Given the description of an element on the screen output the (x, y) to click on. 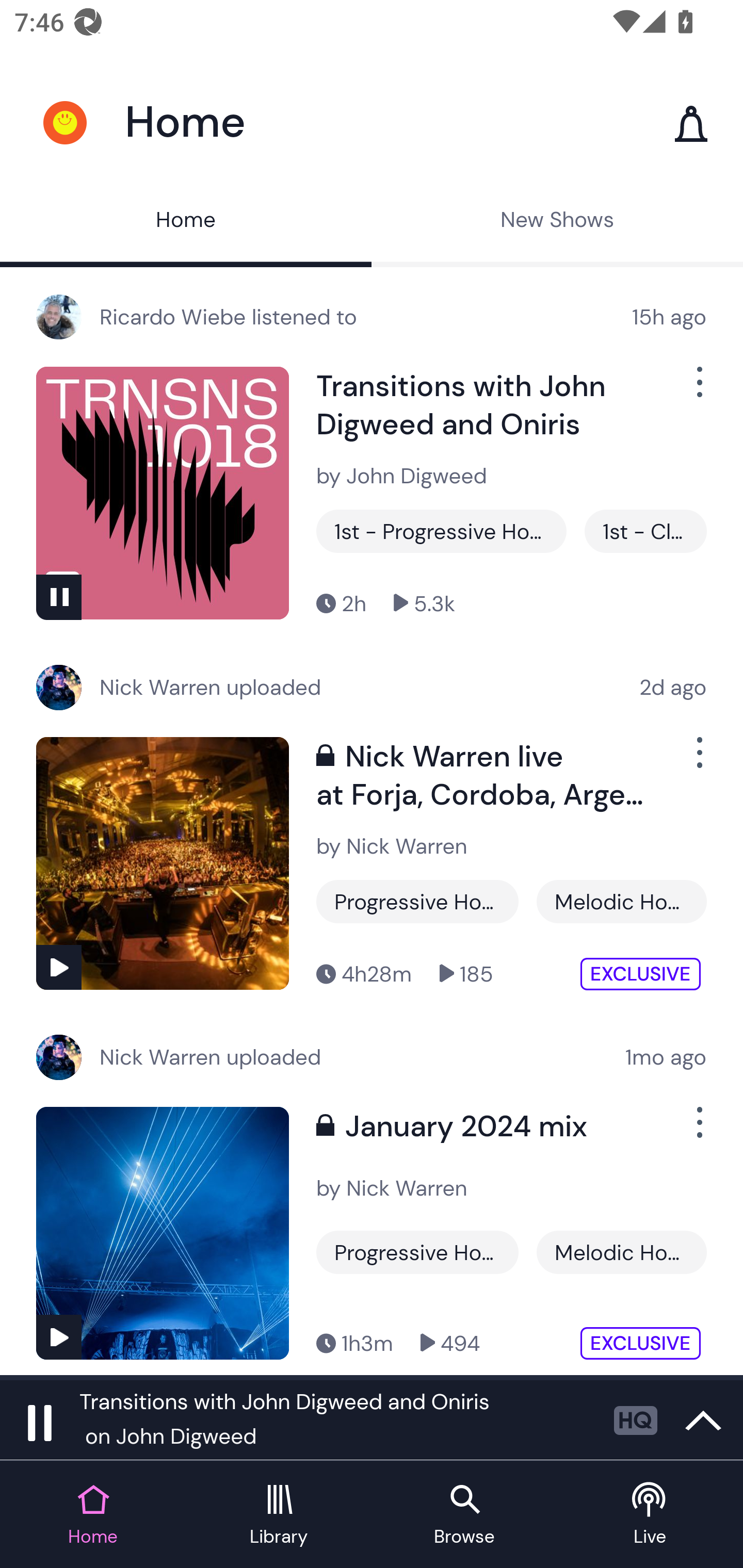
Home (185, 221)
New Shows (557, 221)
Show Options Menu Button (697, 389)
1st - Progressive House (441, 531)
1st - Club (645, 531)
Show Options Menu Button (697, 760)
Progressive House (417, 901)
Melodic House (621, 901)
Show Options Menu Button (697, 1130)
Progressive House (417, 1251)
Melodic House (621, 1251)
Home tab Home (92, 1515)
Library tab Library (278, 1515)
Browse tab Browse (464, 1515)
Live tab Live (650, 1515)
